Given the description of an element on the screen output the (x, y) to click on. 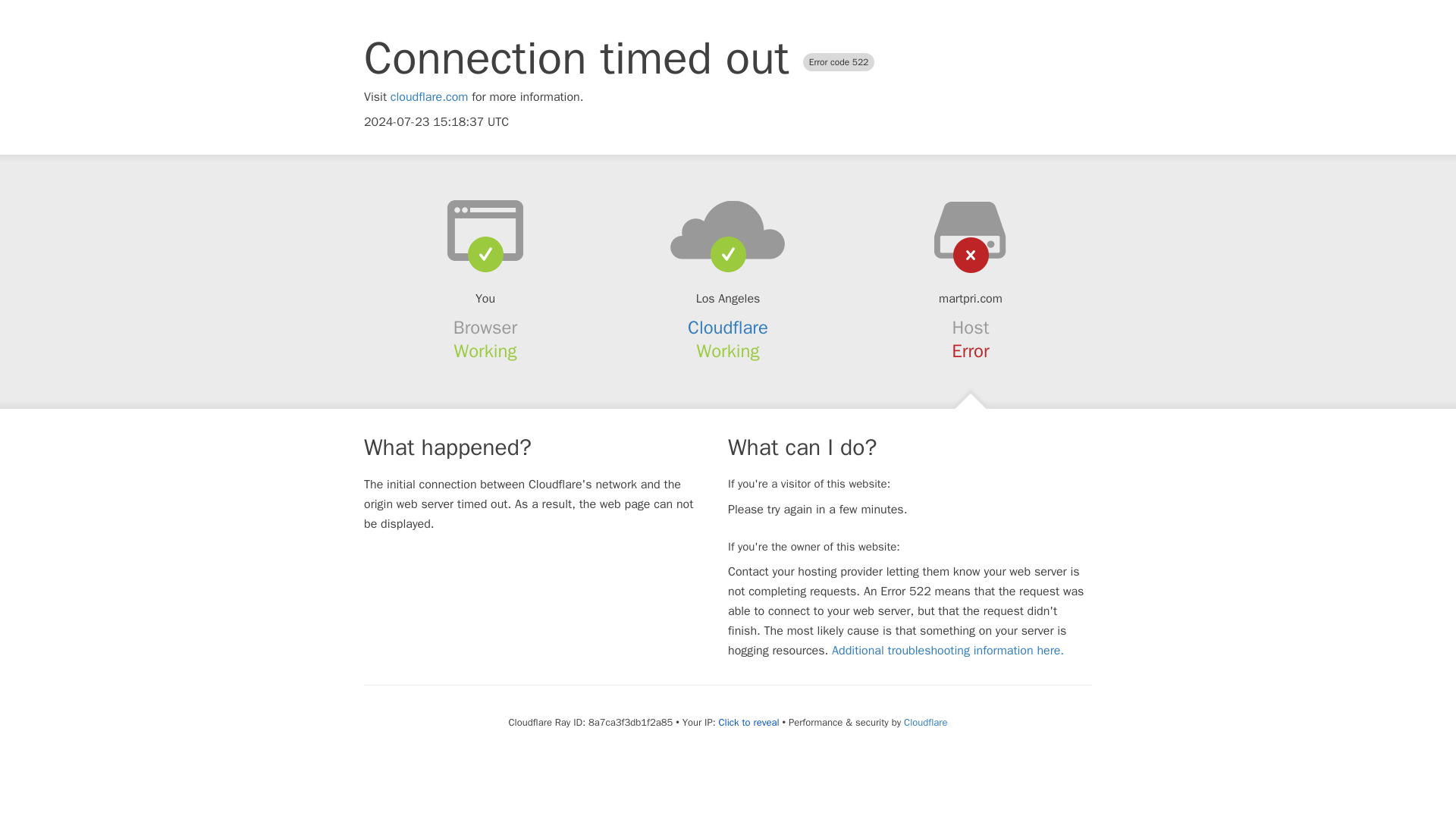
cloudflare.com (429, 96)
Cloudflare (727, 327)
Additional troubleshooting information here. (947, 650)
Click to reveal (748, 722)
Cloudflare (925, 721)
